Given the description of an element on the screen output the (x, y) to click on. 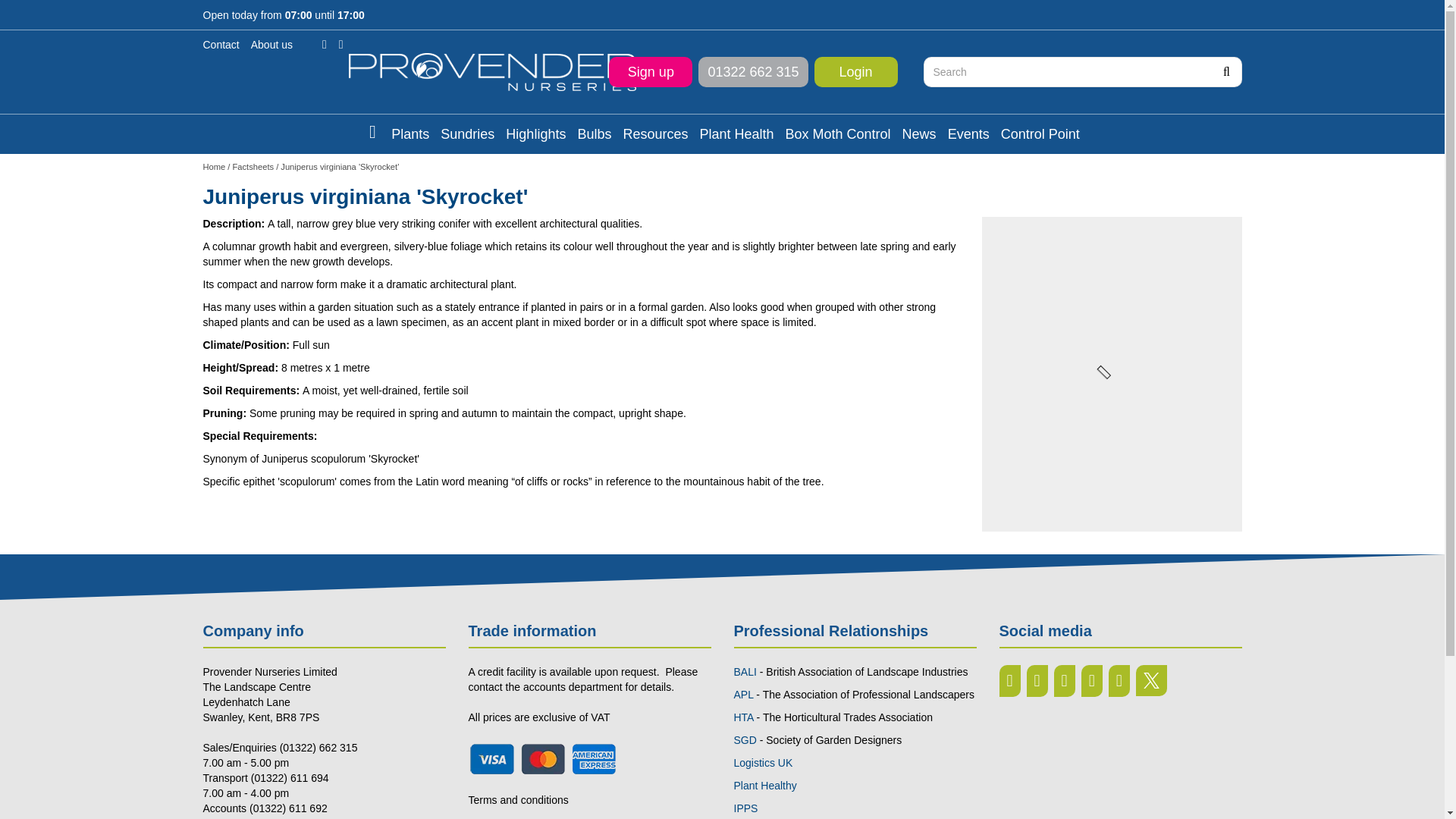
Sign up (650, 71)
Resources (655, 133)
About us (271, 44)
Box Moth Control (838, 133)
About us (271, 44)
Home (214, 166)
Plants (410, 133)
Contact (221, 44)
Home (214, 166)
Spring Bulbs (593, 133)
